Given the description of an element on the screen output the (x, y) to click on. 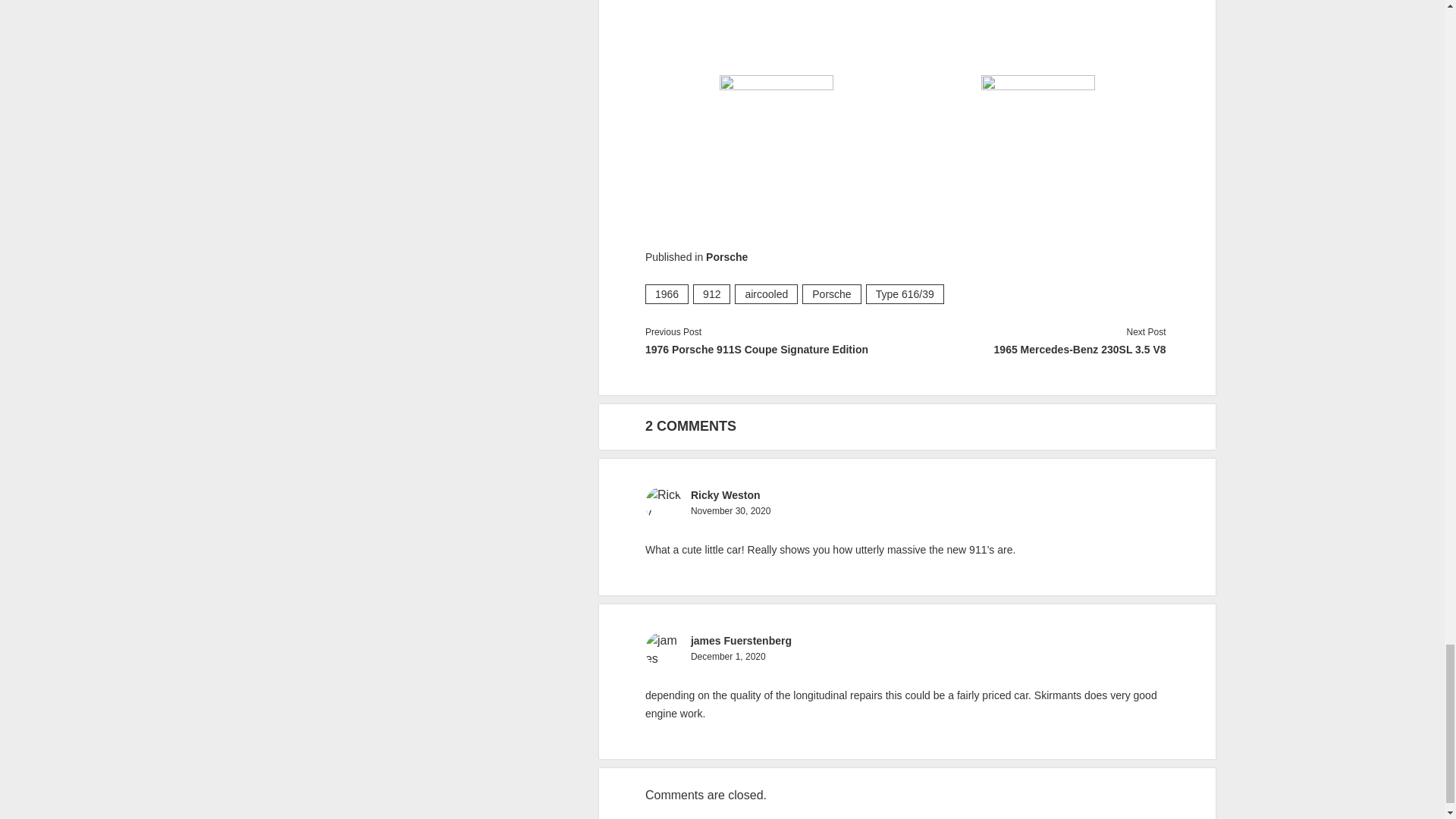
1976 Porsche 911S Coupe Signature Edition (776, 349)
1966 (666, 293)
View all posts tagged aircooled (766, 293)
Porsche (831, 293)
aircooled (766, 293)
View all posts tagged 912 (711, 293)
1965 Mercedes-Benz 230SL 3.5 V8 (1035, 349)
Porsche (727, 256)
912 (711, 293)
View all posts in Porsche (727, 256)
